Given the description of an element on the screen output the (x, y) to click on. 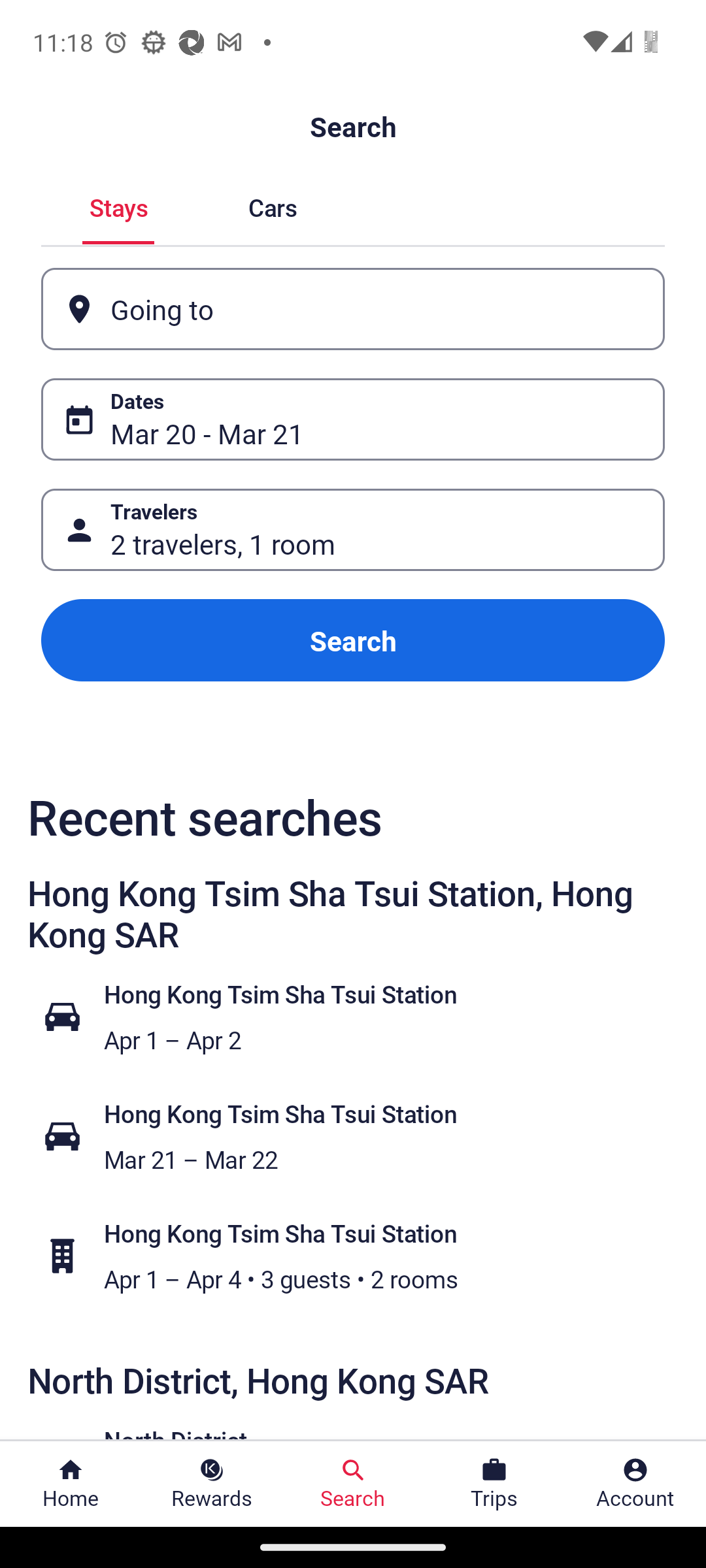
Cars (272, 205)
Going to Button (352, 308)
Dates Button Mar 20 - Mar 21 (352, 418)
Travelers Button 2 travelers, 1 room (352, 529)
Search (352, 640)
Hong Kong Tsim Sha Tsui Station Apr 1 – Apr 2 (363, 1016)
Hong Kong Tsim Sha Tsui Station Mar 21 – Mar 22 (363, 1136)
Home Home Button (70, 1483)
Rewards Rewards Button (211, 1483)
Trips Trips Button (493, 1483)
Account Profile. Button (635, 1483)
